Given the description of an element on the screen output the (x, y) to click on. 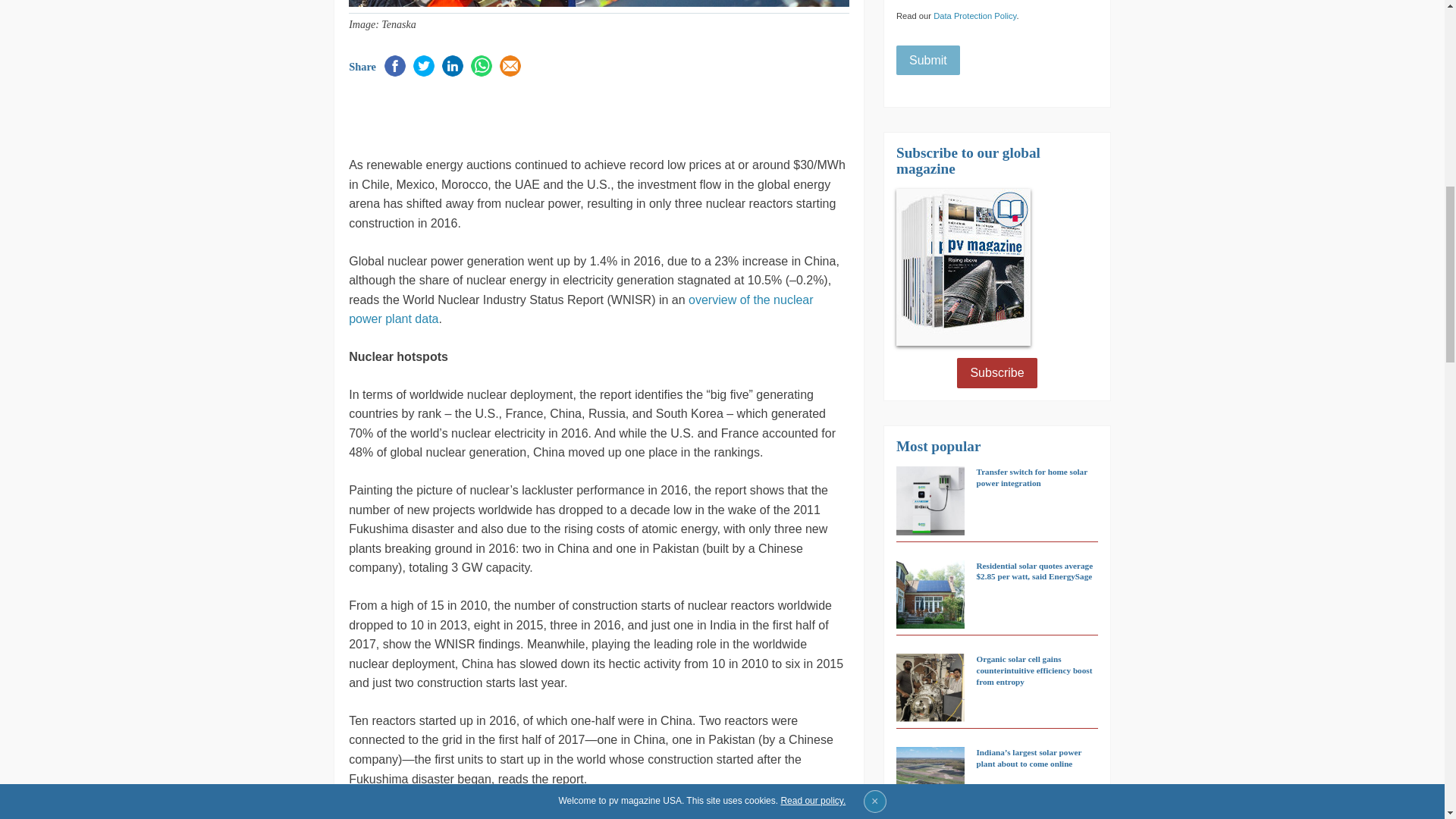
3rd party ad content (526, 114)
3rd party ad content (1199, 115)
Submit (927, 60)
